Given the description of an element on the screen output the (x, y) to click on. 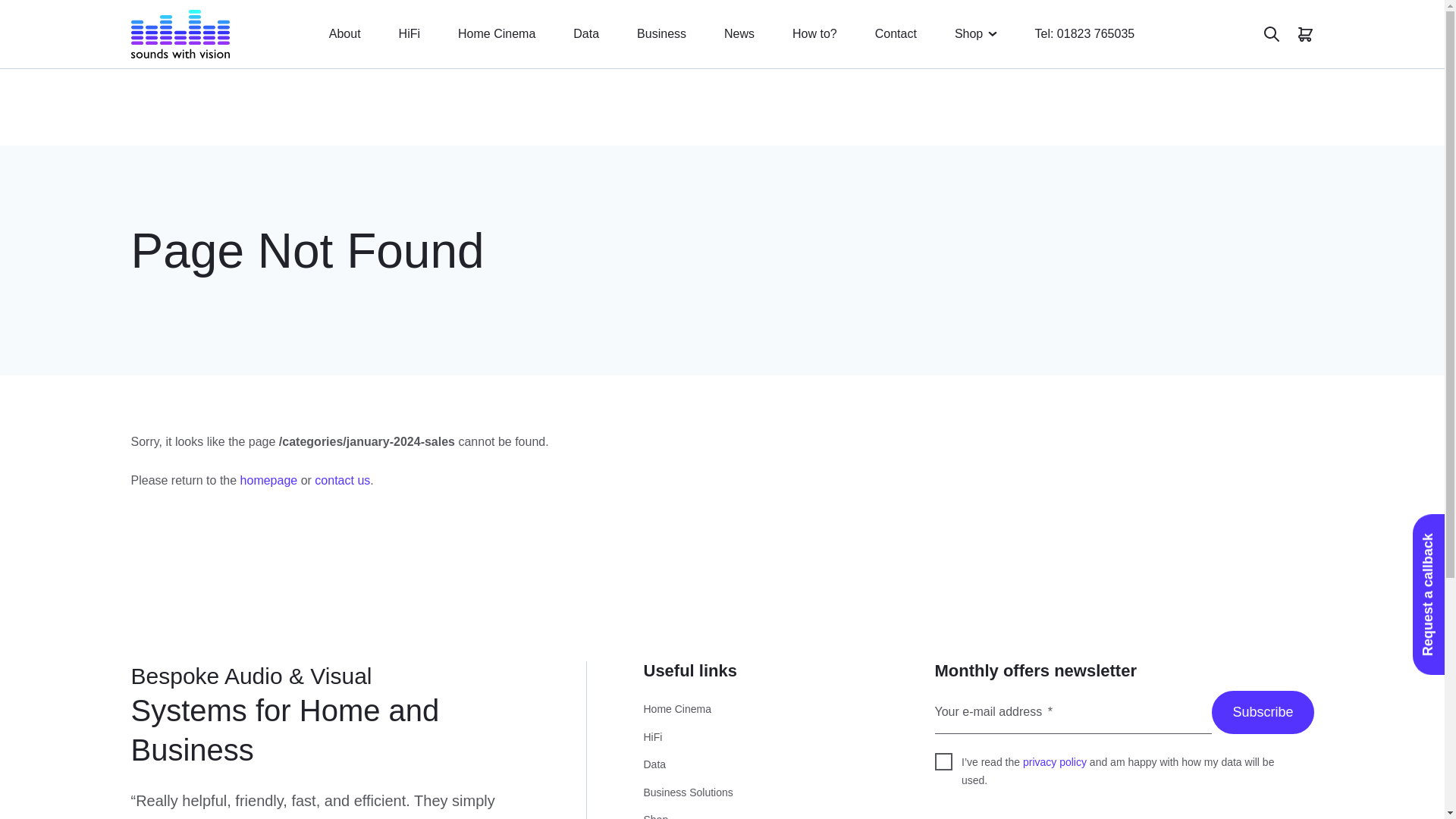
Yes (19, 48)
HiFi (409, 34)
Data (585, 34)
Business (661, 34)
Contact (896, 34)
Home Cinema (496, 34)
Shop (968, 34)
News (738, 34)
How to? (814, 34)
About (345, 34)
